Given the description of an element on the screen output the (x, y) to click on. 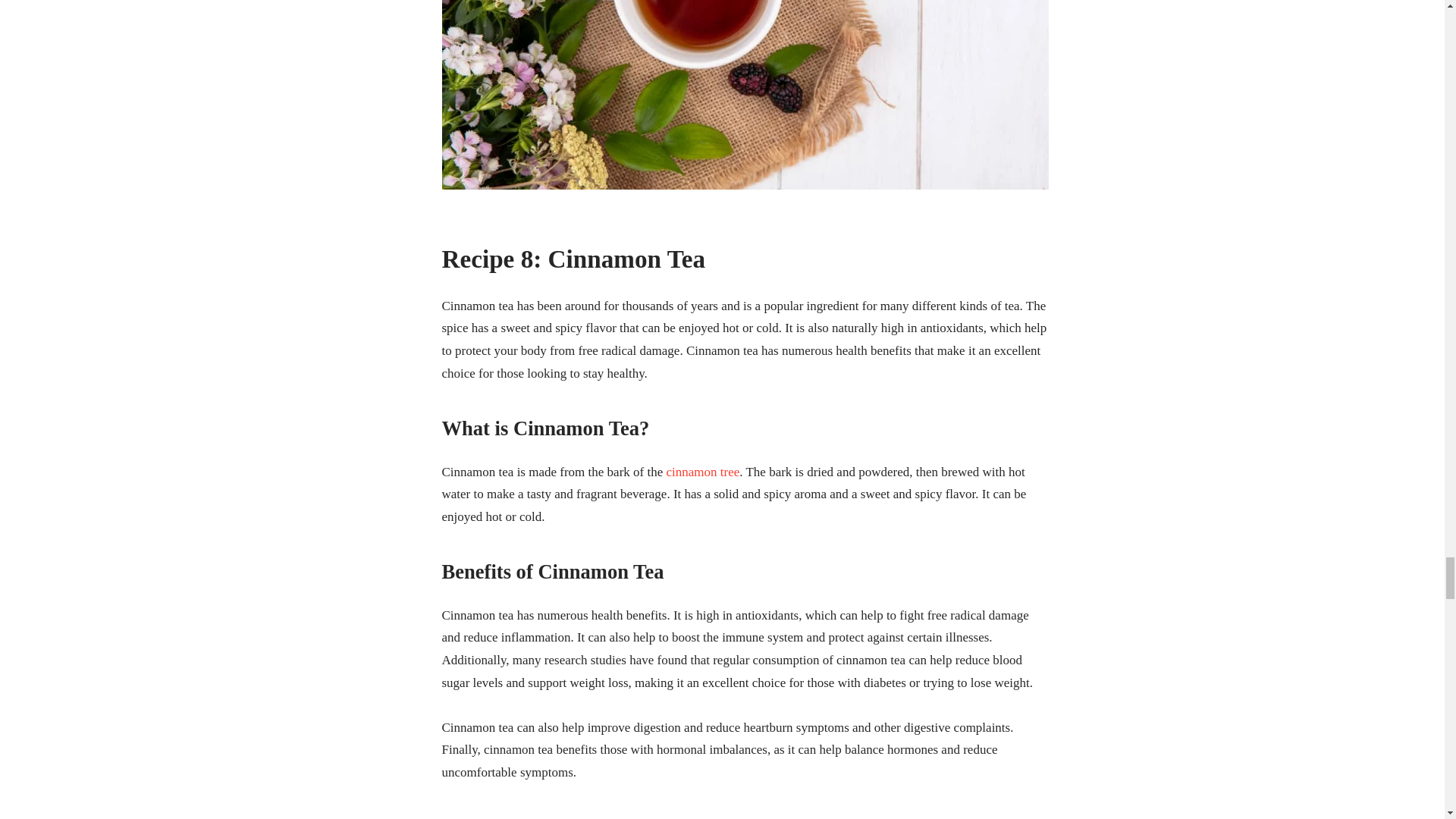
cinnamon tree (702, 472)
